Given the description of an element on the screen output the (x, y) to click on. 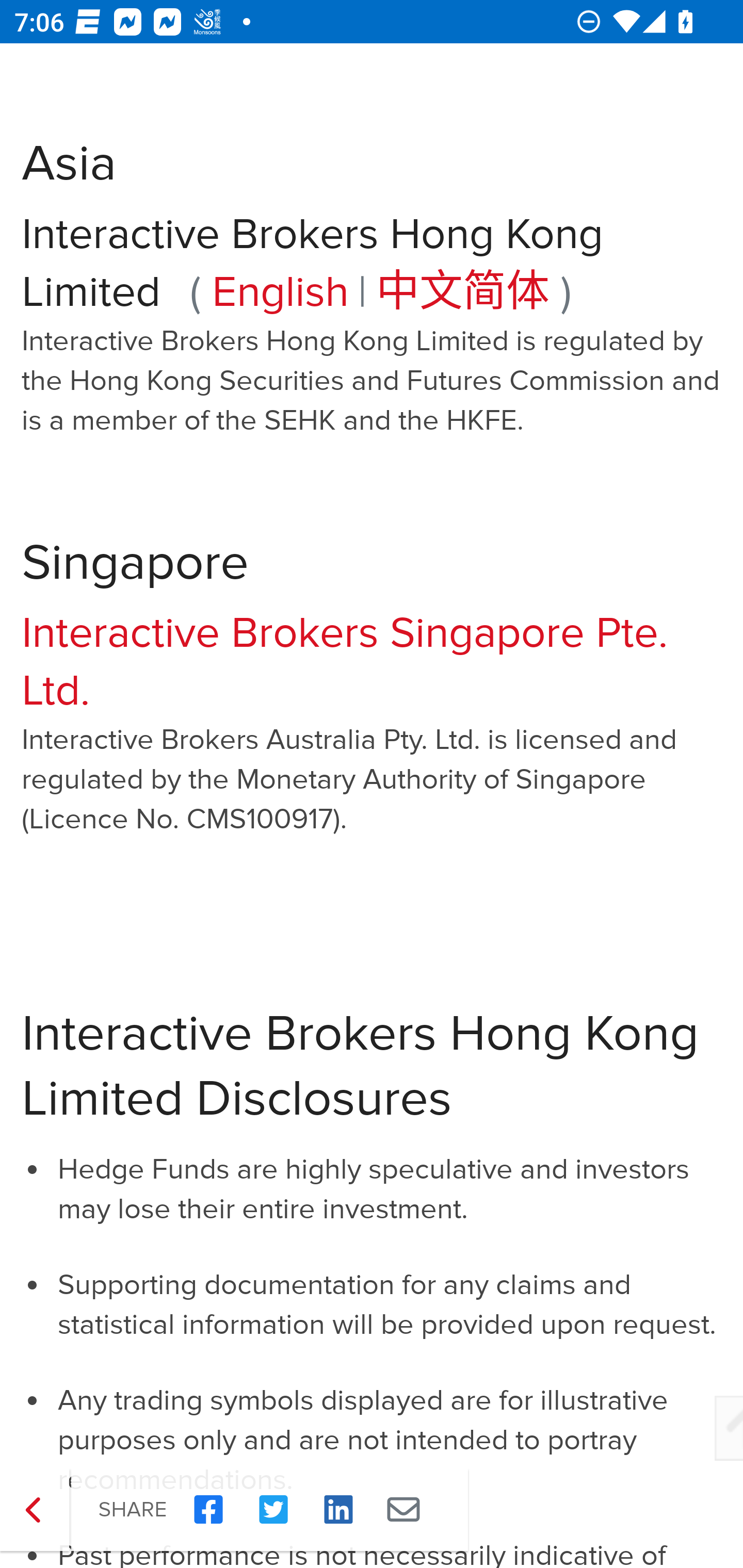
English (280, 291)
中文简体 (462, 291)
Interactive Brokers Singapore Pte. Ltd. (345, 662)
Share on Facebook  (208, 1509)
Share on Twitter  (272, 1509)
Share on Linkedin  (338, 1509)
Share by Email  (403, 1509)
